Given the description of an element on the screen output the (x, y) to click on. 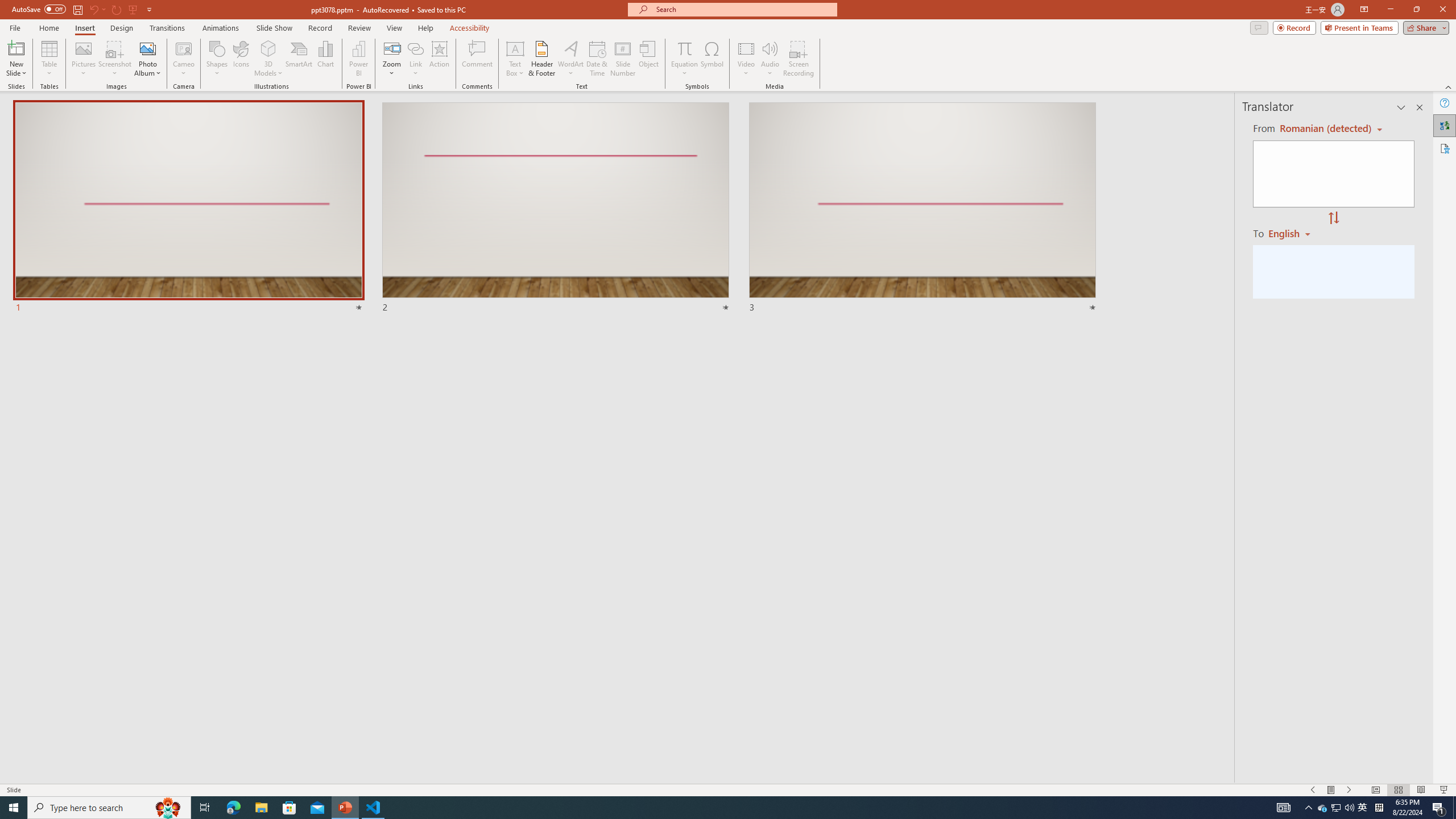
Draw Horizontal Text Box (515, 48)
Date & Time... (596, 58)
